Given the description of an element on the screen output the (x, y) to click on. 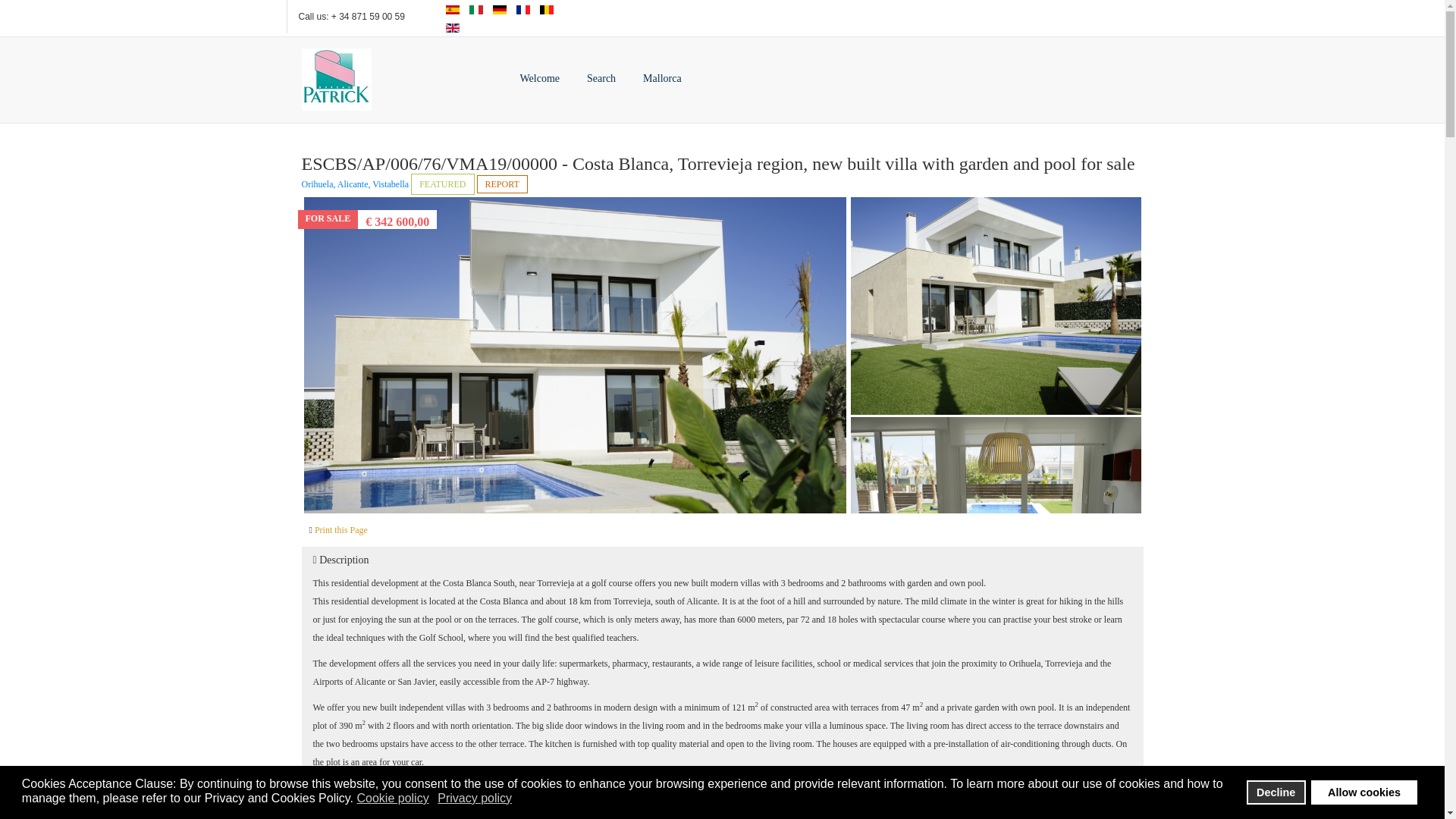
Exterior garden (995, 305)
Privacy policy (475, 798)
REPORT (502, 184)
Print this Page (341, 529)
salon (995, 525)
Cookie policy (393, 798)
Allow cookies (1363, 792)
Reporting problem with property (502, 184)
Decline (1276, 792)
